Given the description of an element on the screen output the (x, y) to click on. 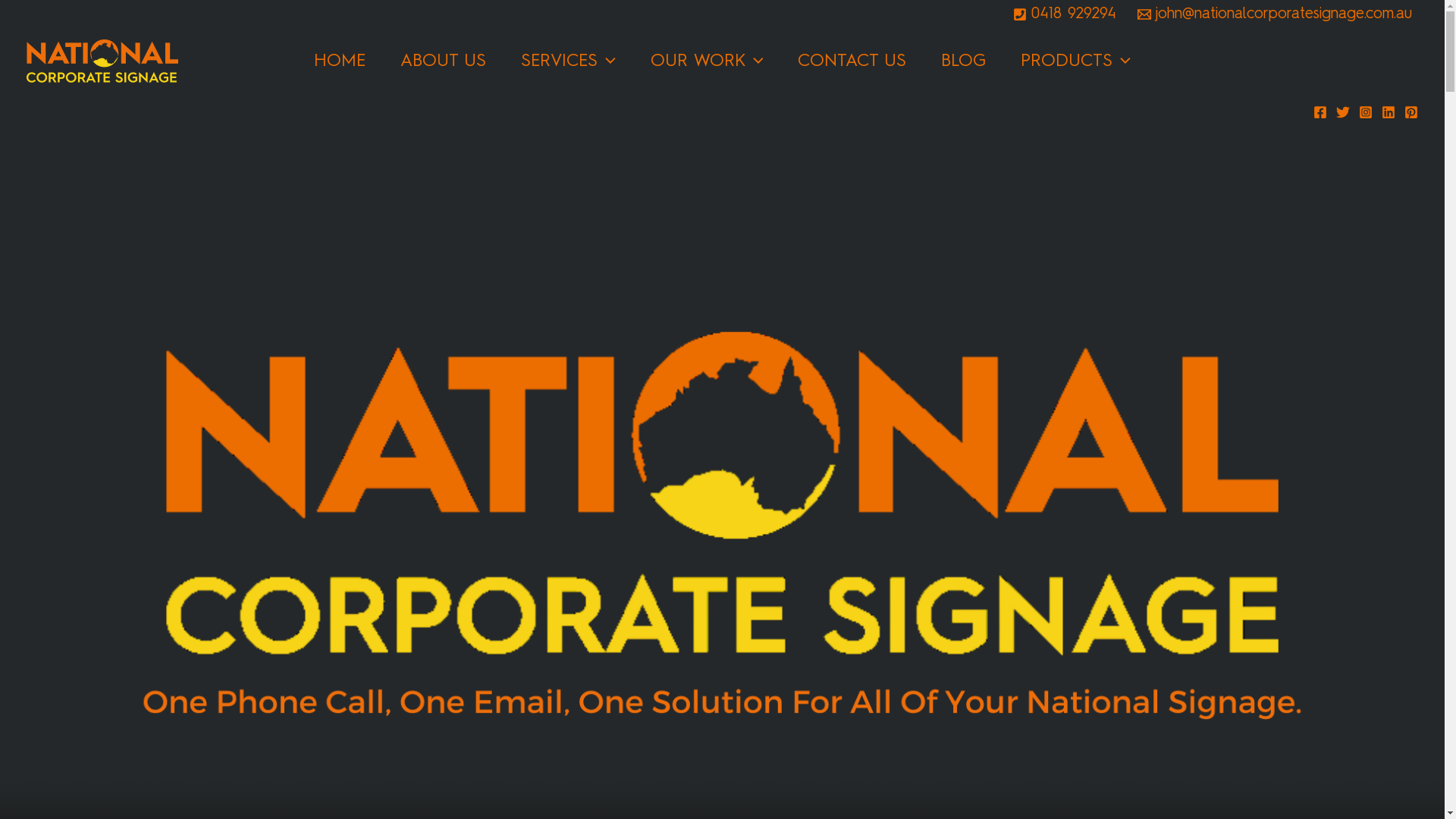
HOME Element type: text (339, 60)
SERVICES Element type: text (568, 60)
CONTACT US Element type: text (851, 60)
0418 929294 Element type: text (1064, 13)
OUR WORK Element type: text (707, 60)
BLOG Element type: text (963, 60)
PRODUCTS Element type: text (1075, 60)
ABOUT US Element type: text (442, 60)
john@nationalcorporatesignage.com.au Element type: text (1274, 13)
